Given the description of an element on the screen output the (x, y) to click on. 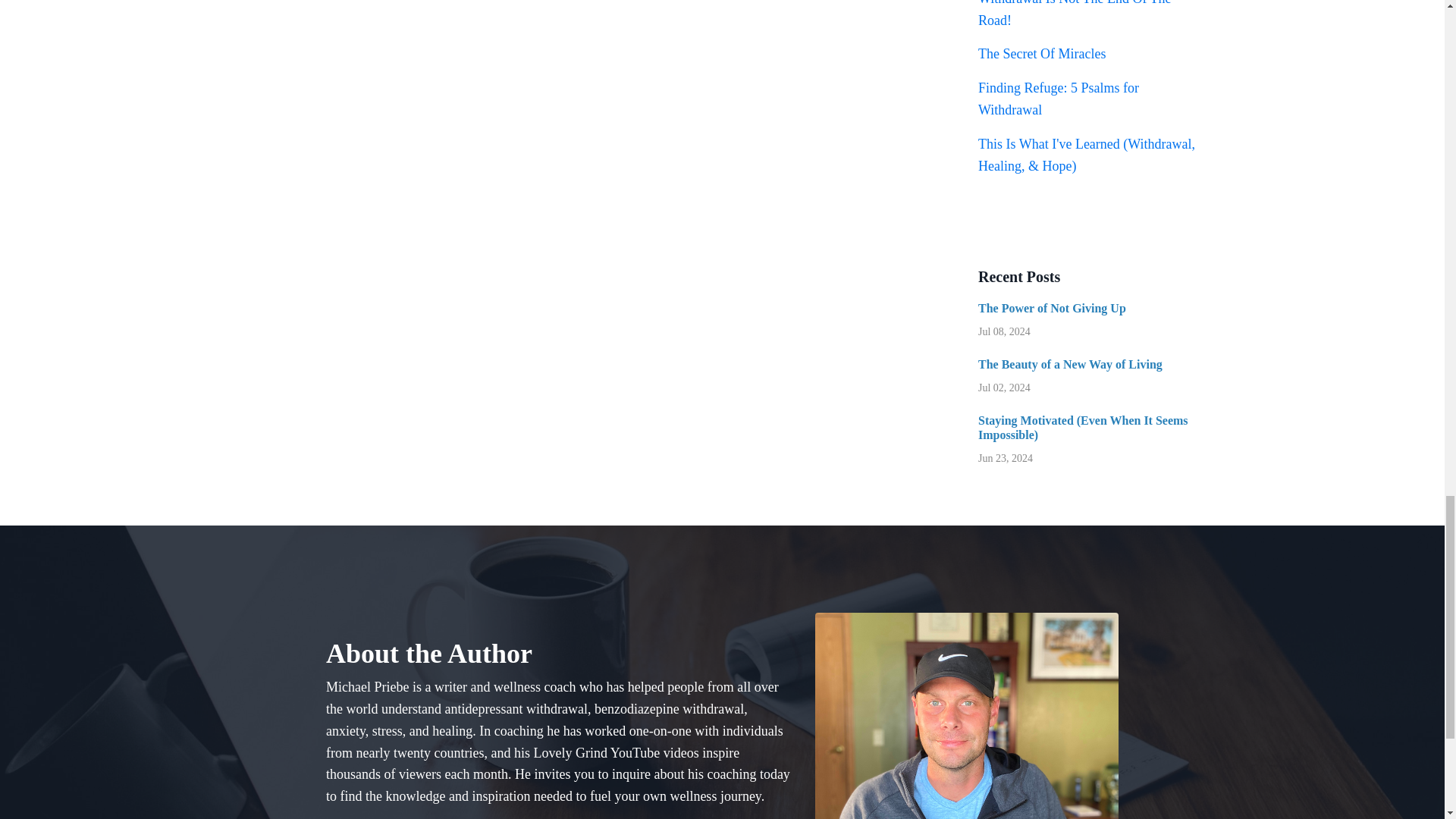
Finding Refuge: 5 Psalms for Withdrawal (1058, 98)
Withdrawal Is Not The End Of The Road! (1075, 13)
The Secret Of Miracles (1041, 53)
The Power of Not Giving Up (1088, 308)
The Beauty of a New Way of Living (1088, 364)
